Given the description of an element on the screen output the (x, y) to click on. 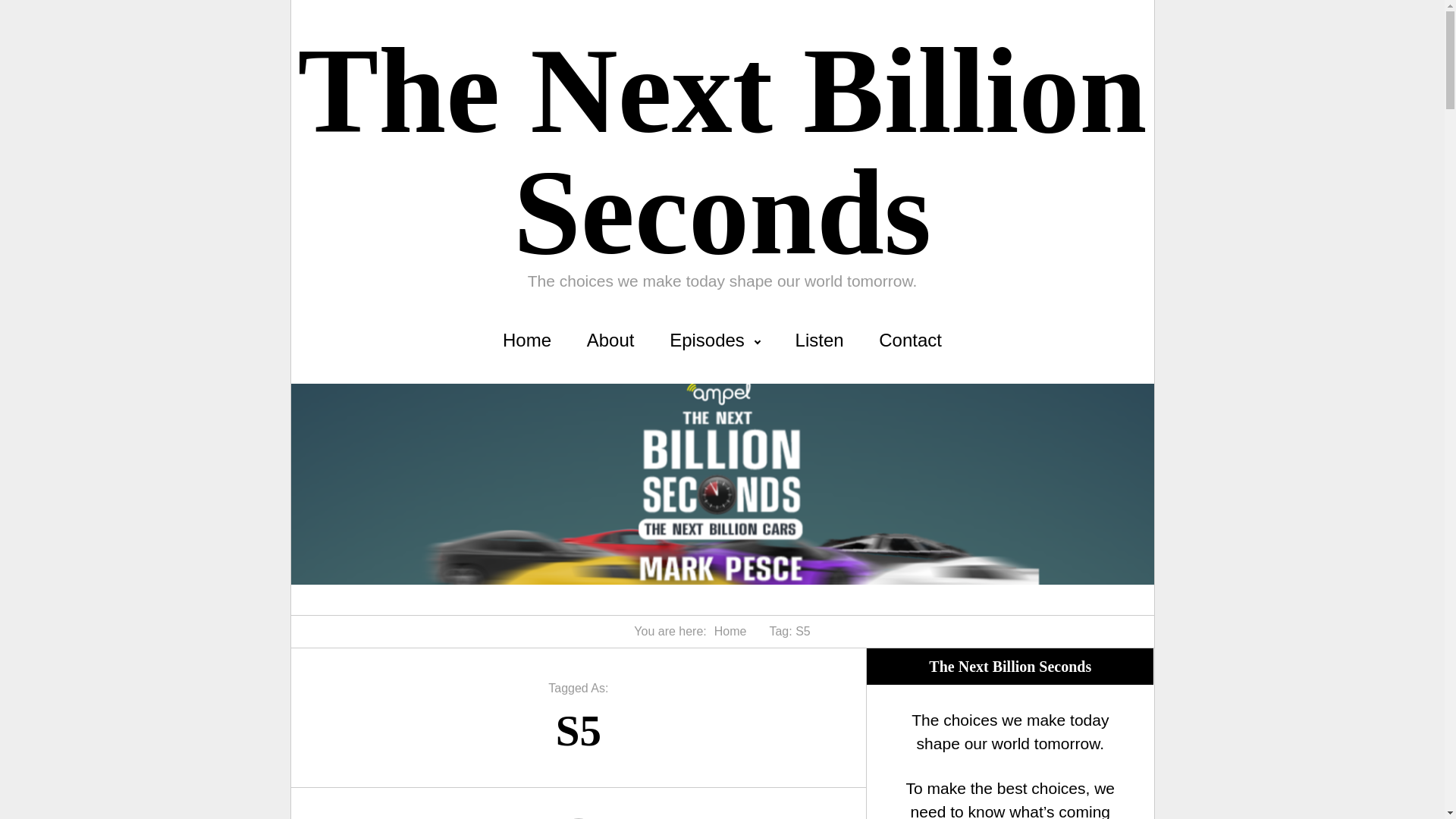
Episodes (714, 340)
About (610, 340)
Home (526, 340)
